Given the description of an element on the screen output the (x, y) to click on. 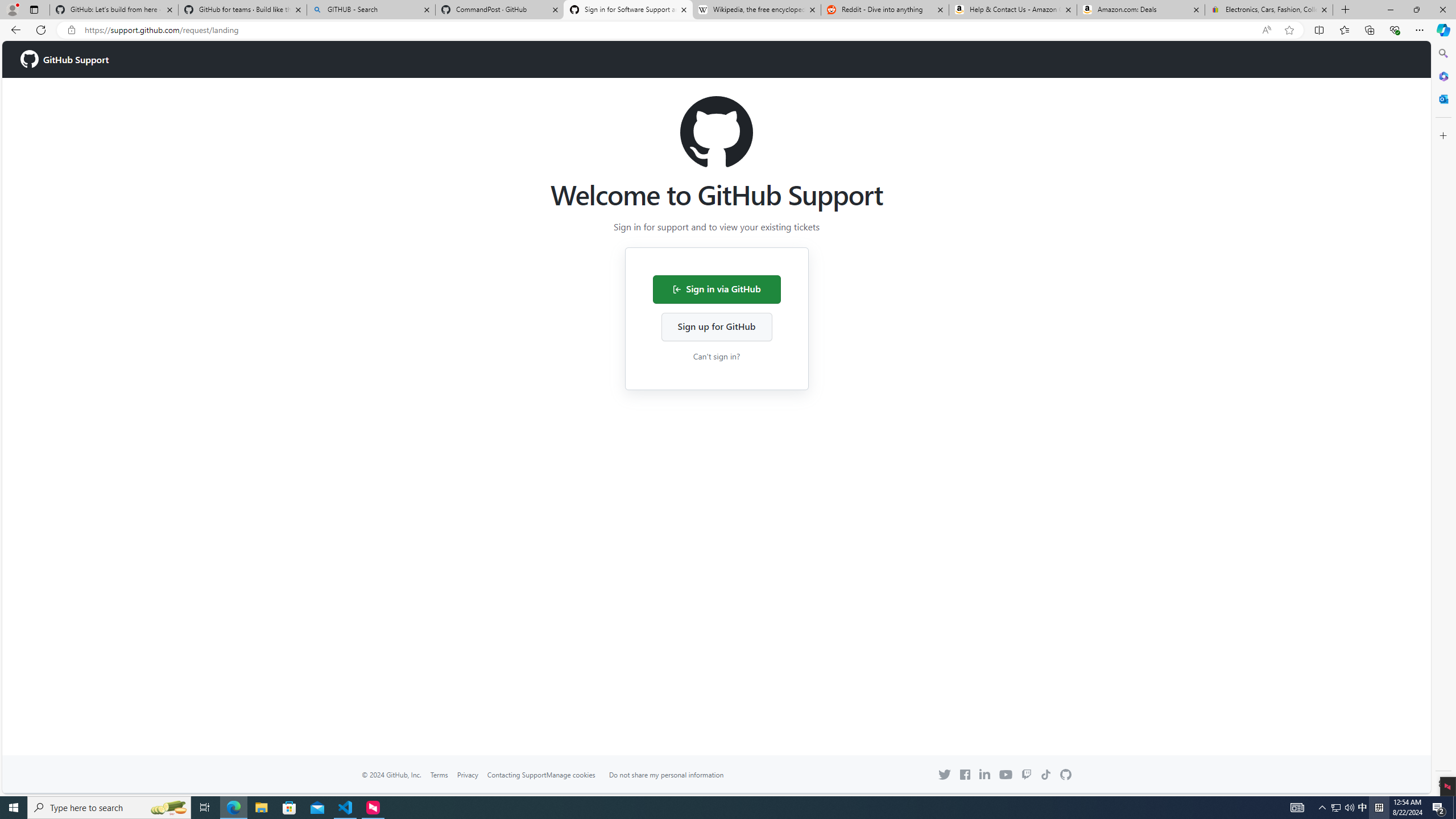
Contacting Support (516, 773)
Terms (438, 773)
Manage cookiesDo not share my personal information (642, 774)
Manage cookies (570, 774)
YouTube icon (1004, 773)
GitHub mark (1065, 774)
Facebook icon (964, 774)
Facebook icon (964, 774)
GitHub mark Back to GitHub.com (1065, 774)
